Given the description of an element on the screen output the (x, y) to click on. 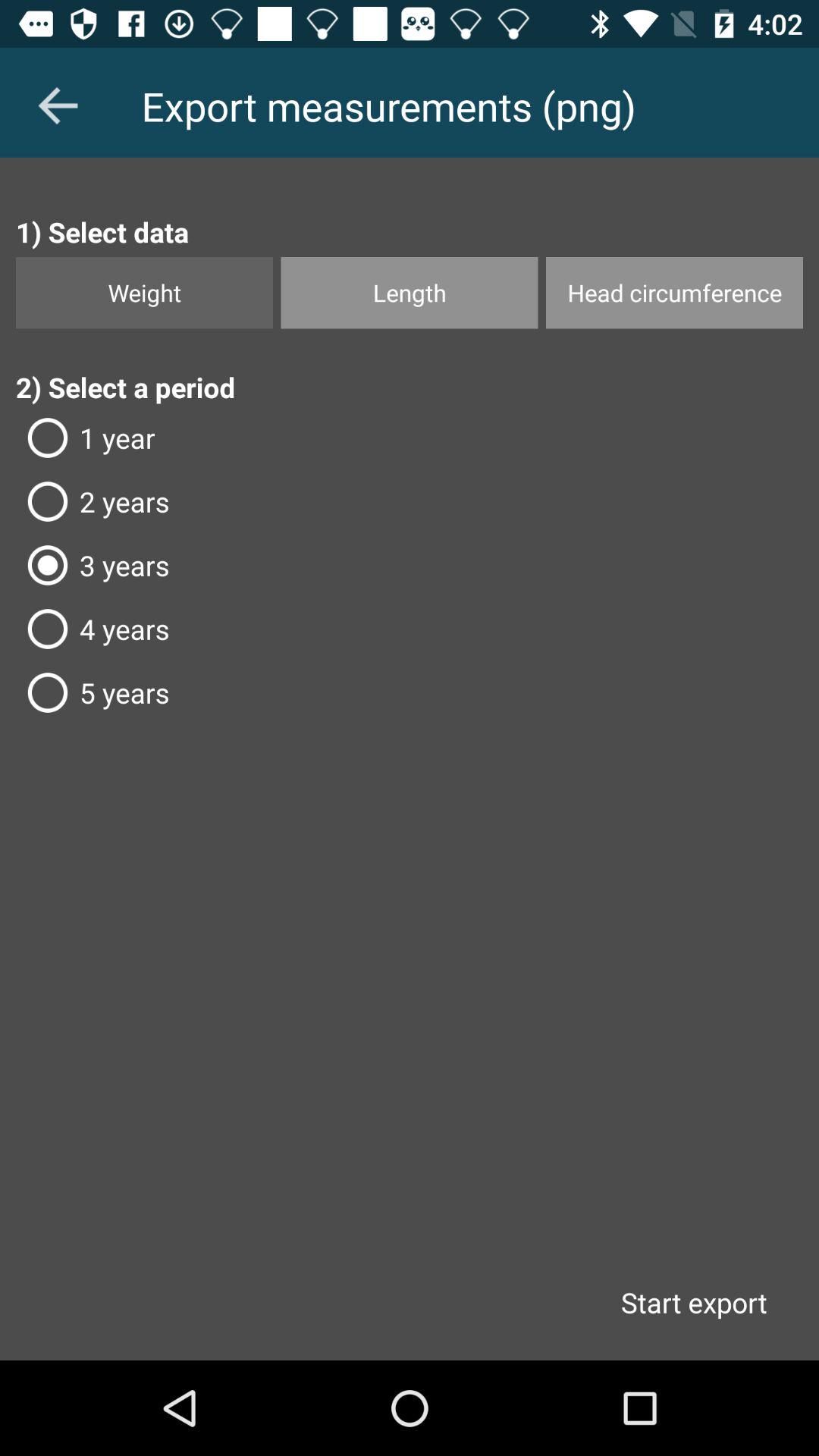
open 3 years icon (409, 565)
